Given the description of an element on the screen output the (x, y) to click on. 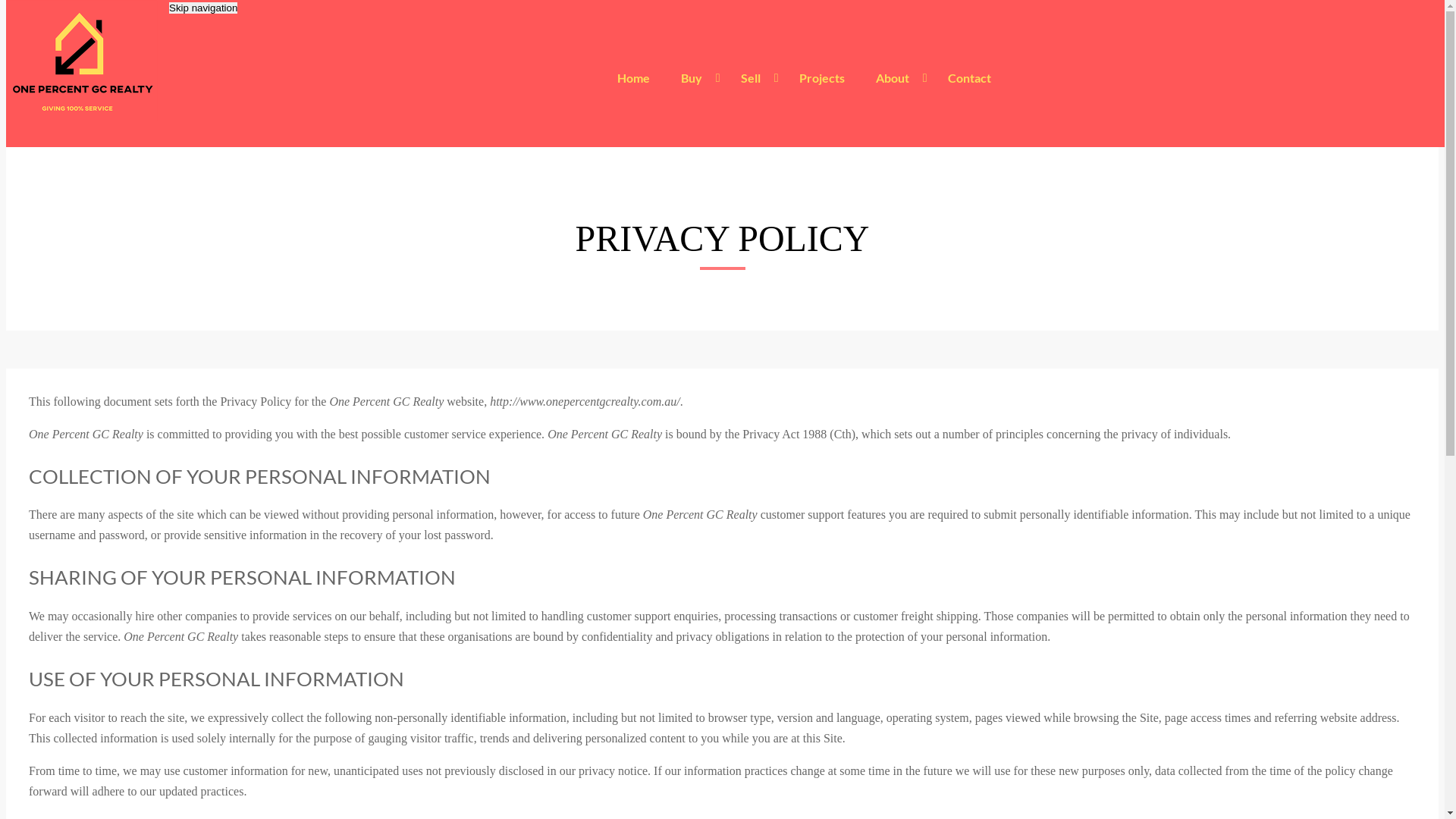
Projects Element type: text (821, 77)
Home Element type: text (633, 77)
Sell Element type: text (753, 77)
Contact Element type: text (969, 77)
Skip navigation Element type: text (203, 7)
About Element type: text (895, 77)
Buy Element type: text (694, 77)
